Given the description of an element on the screen output the (x, y) to click on. 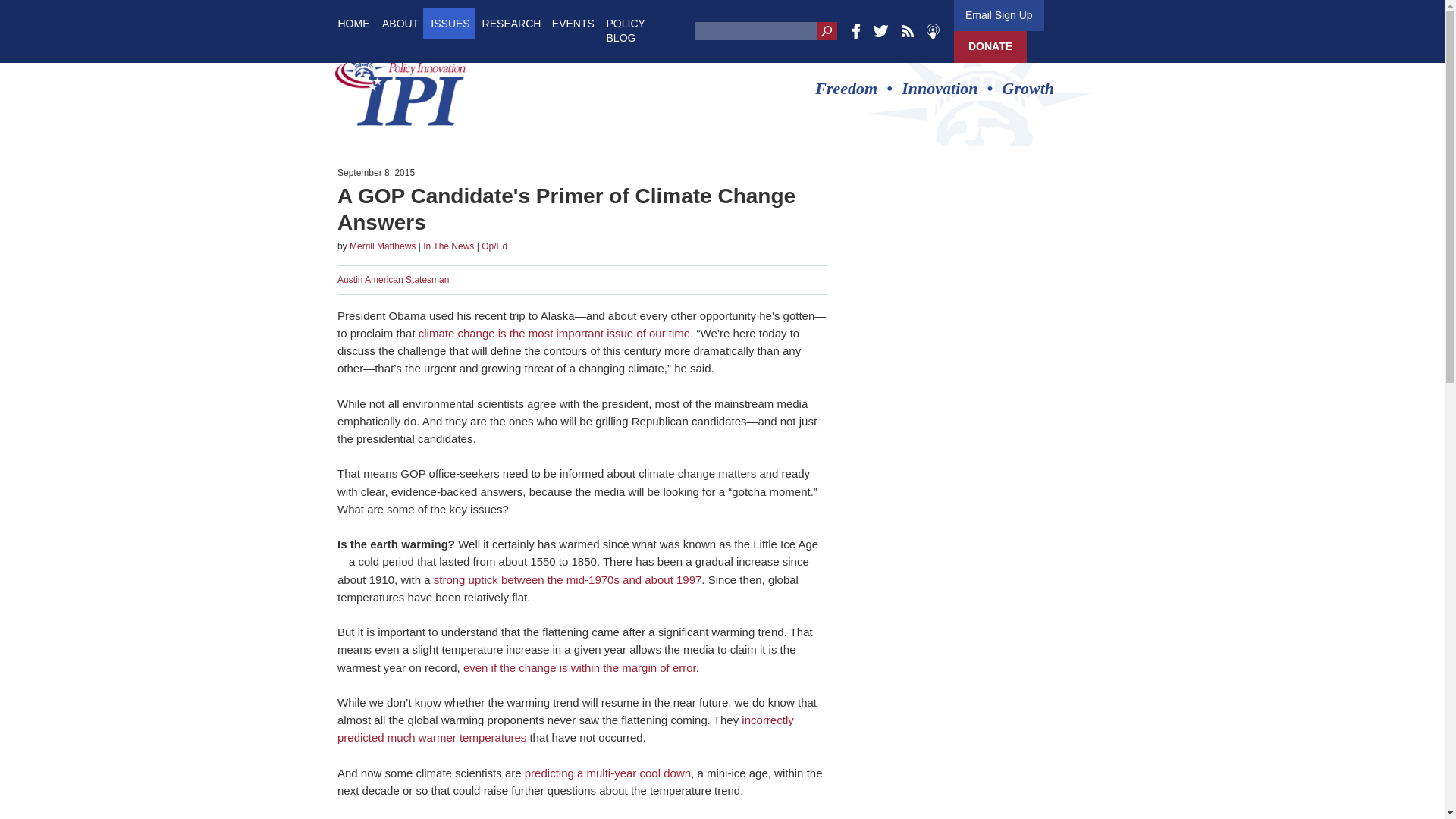
In The News (448, 245)
ISSUES (450, 23)
HOME (353, 23)
ABOUT (400, 23)
Email Sign Up (998, 15)
even if the change is within the margin of error (579, 667)
Austin American Statesman (392, 279)
EVENTS (573, 23)
Merrill Matthews (381, 245)
climate change is the most important issue of our time (554, 332)
